Given the description of an element on the screen output the (x, y) to click on. 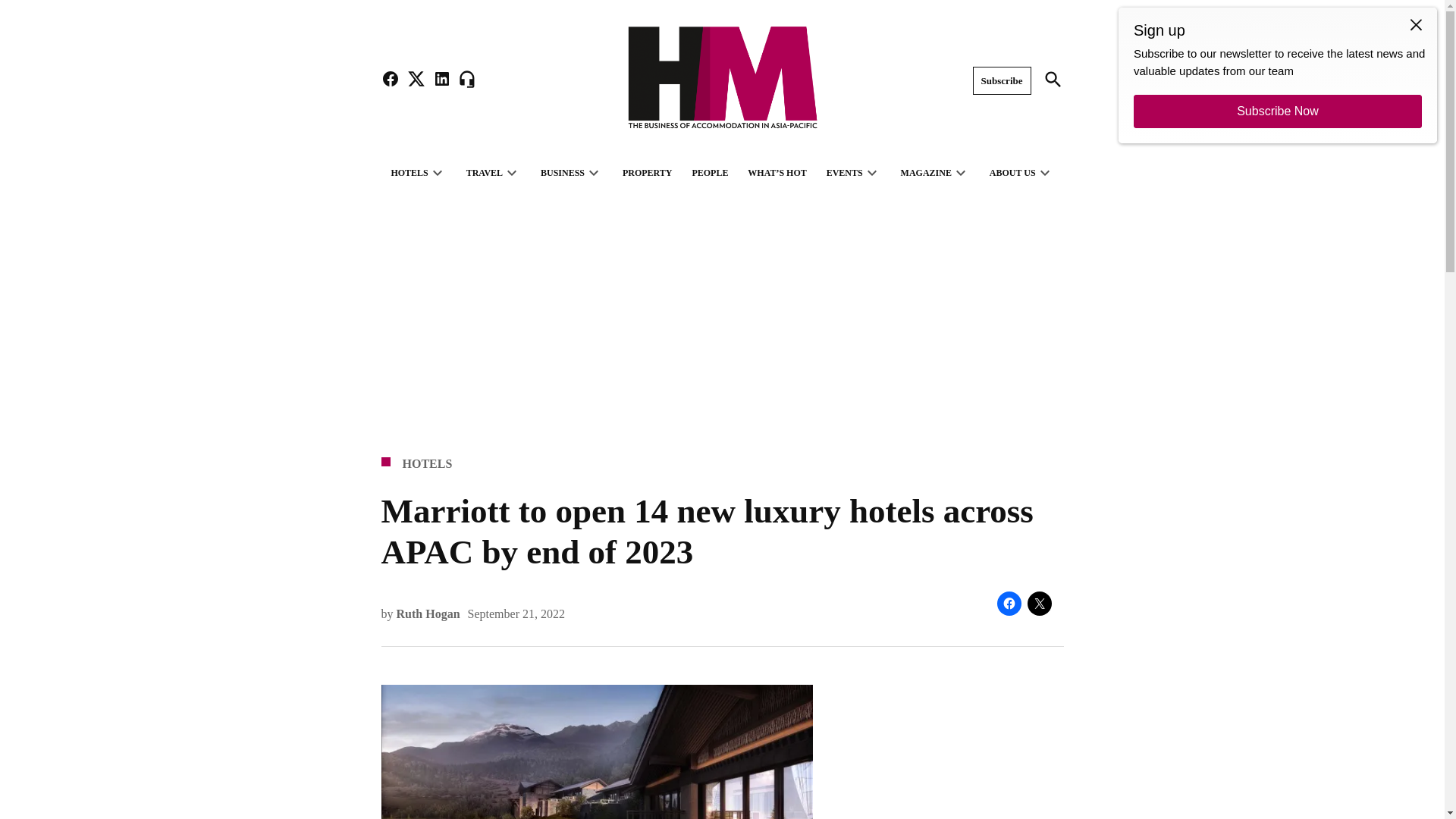
Popup CTA (1277, 75)
Click to share on X (1038, 603)
3rd party ad content (956, 751)
Click to share on Facebook (1007, 603)
